Given the description of an element on the screen output the (x, y) to click on. 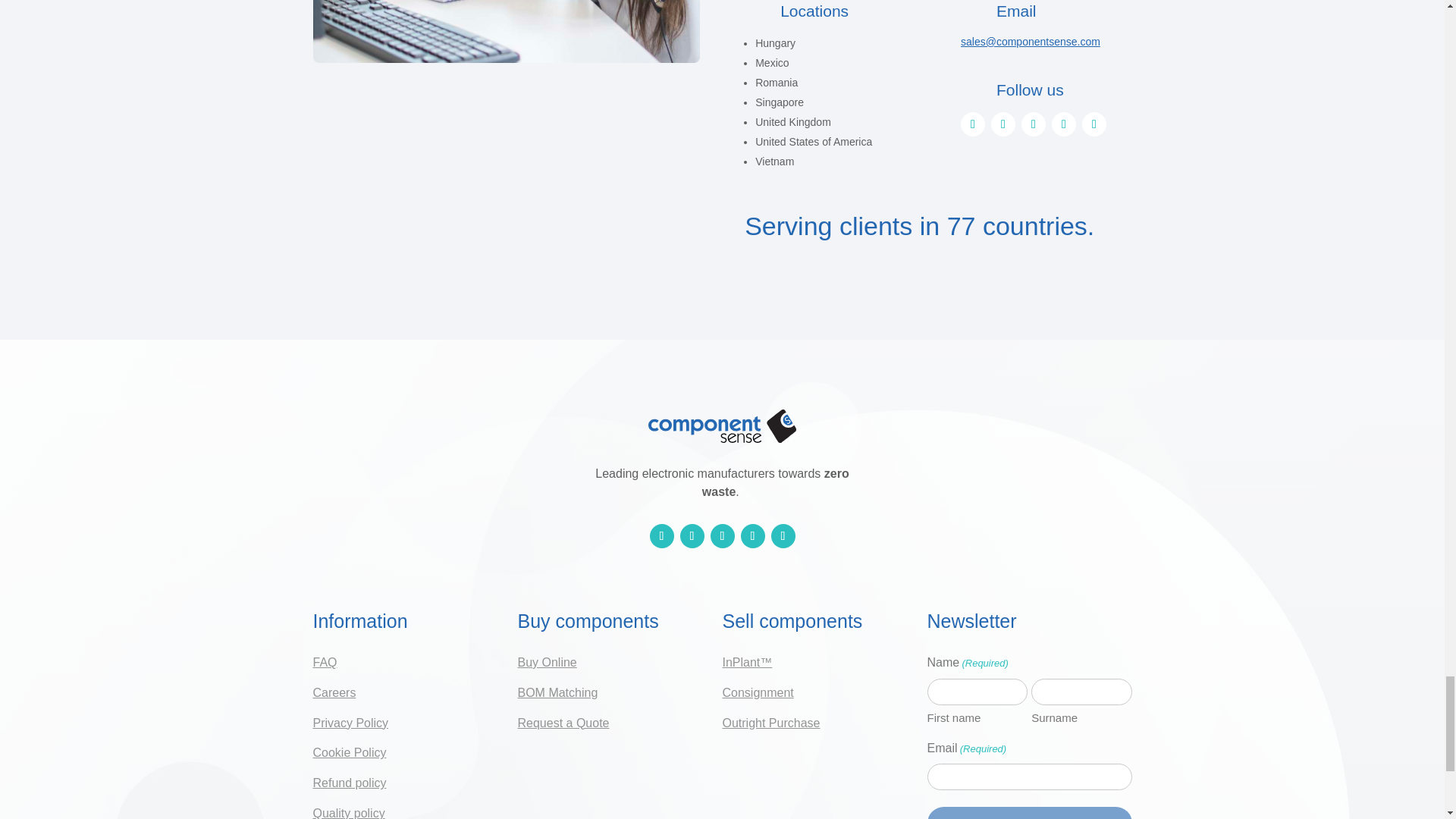
Follow on LinkedIn (660, 535)
Component Sense Logo (720, 426)
Follow on Youtube (1093, 124)
Follow on Instagram (1002, 124)
Sign me up for the newsletter (1028, 812)
Follow on Facebook (1063, 124)
Follow on X (1033, 124)
Follow on LinkedIn (972, 124)
